Given the description of an element on the screen output the (x, y) to click on. 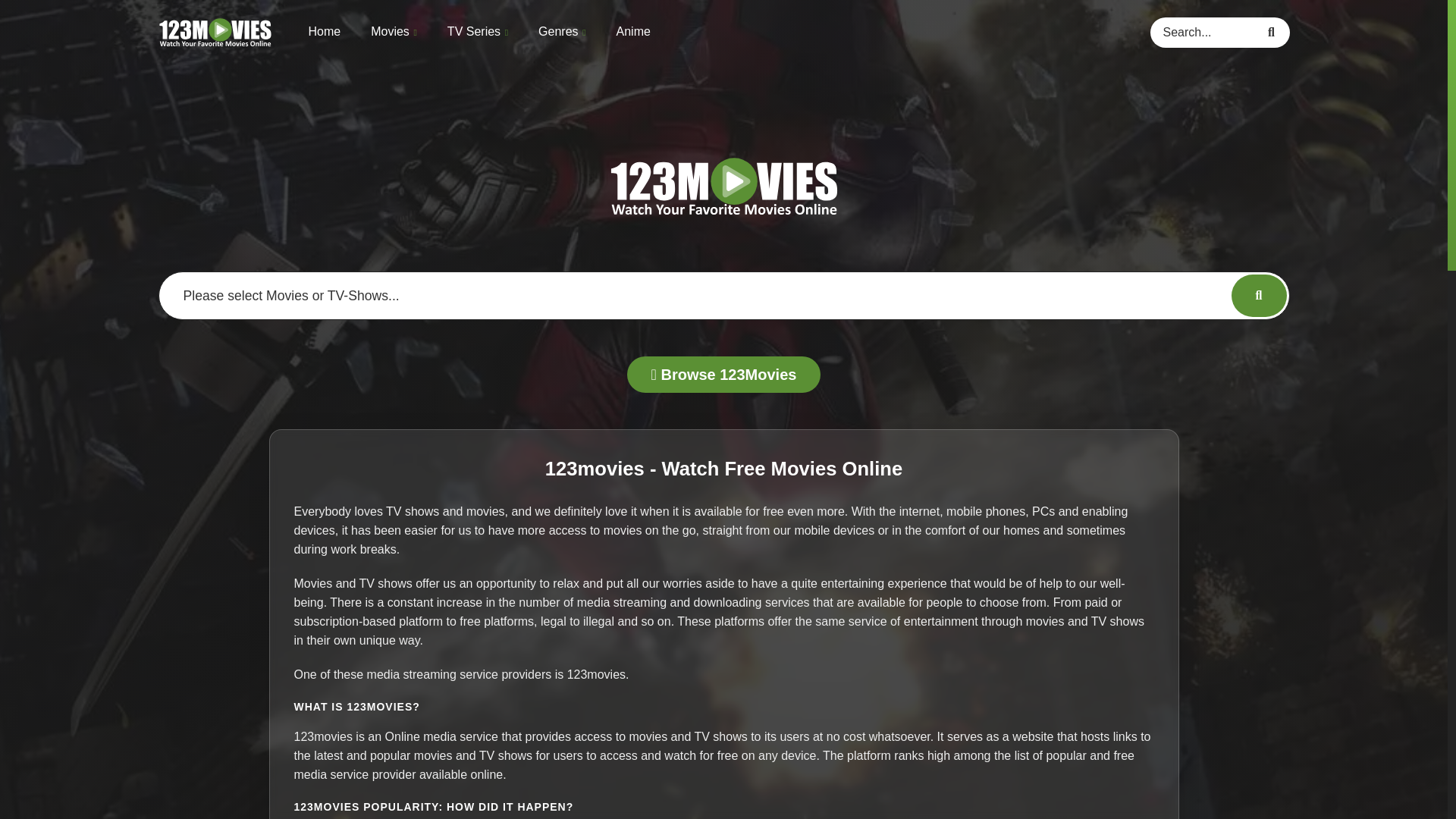
TV Series (477, 31)
 Browse 123Movies (724, 374)
Home (323, 30)
Anime (632, 30)
Genres (561, 31)
Movies (393, 31)
Search (1273, 31)
